Given the description of an element on the screen output the (x, y) to click on. 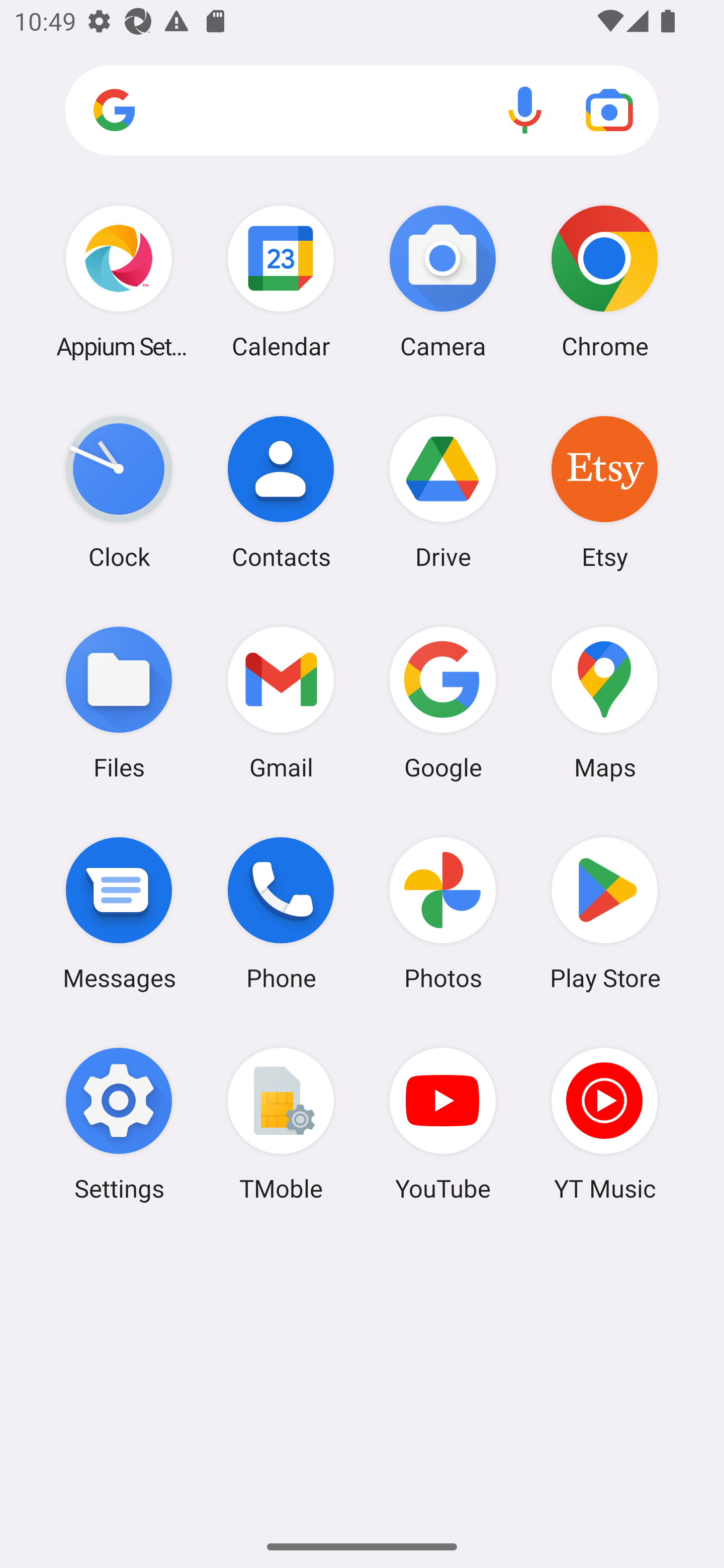
Search apps, web and more (361, 110)
Voice search (524, 109)
Google Lens (608, 109)
Appium Settings (118, 281)
Calendar (280, 281)
Camera (443, 281)
Chrome (604, 281)
Clock (118, 492)
Contacts (280, 492)
Drive (443, 492)
Etsy (604, 492)
Files (118, 702)
Gmail (280, 702)
Google (443, 702)
Maps (604, 702)
Messages (118, 913)
Phone (280, 913)
Photos (443, 913)
Play Store (604, 913)
Settings (118, 1124)
TMoble (280, 1124)
YouTube (443, 1124)
YT Music (604, 1124)
